Given the description of an element on the screen output the (x, y) to click on. 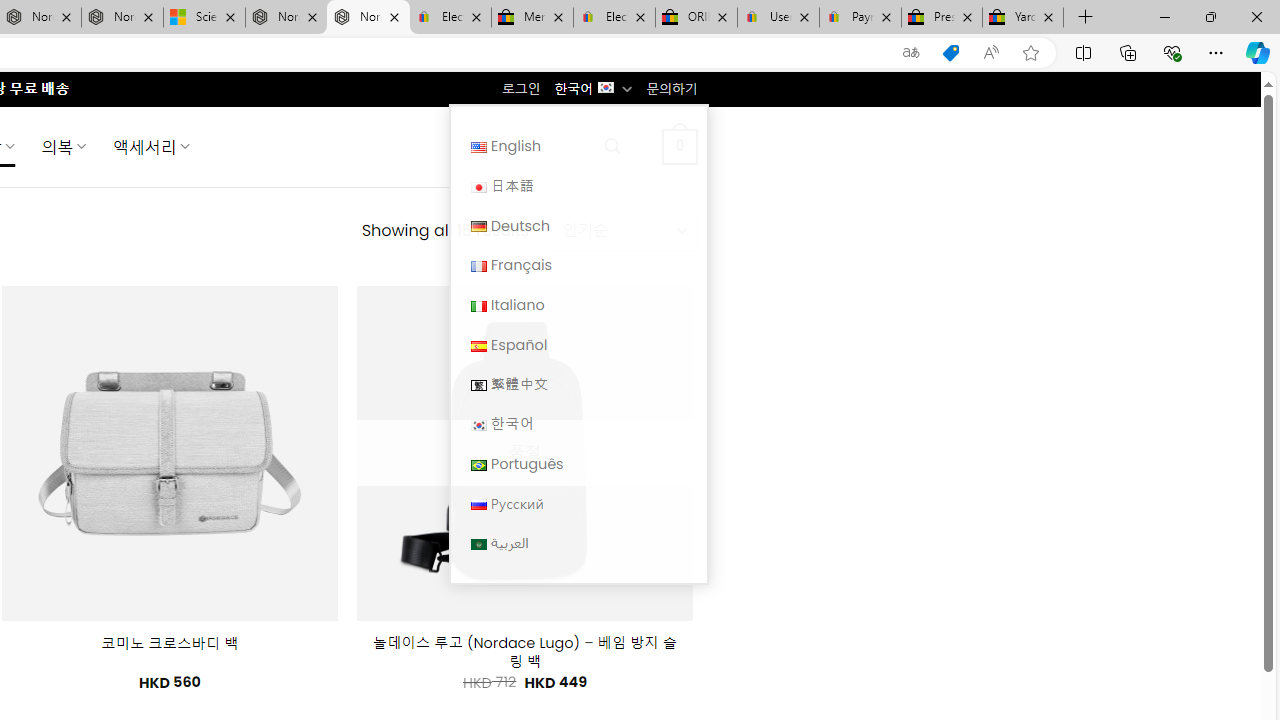
Italiano (478, 305)
 English (578, 145)
